Given the description of an element on the screen output the (x, y) to click on. 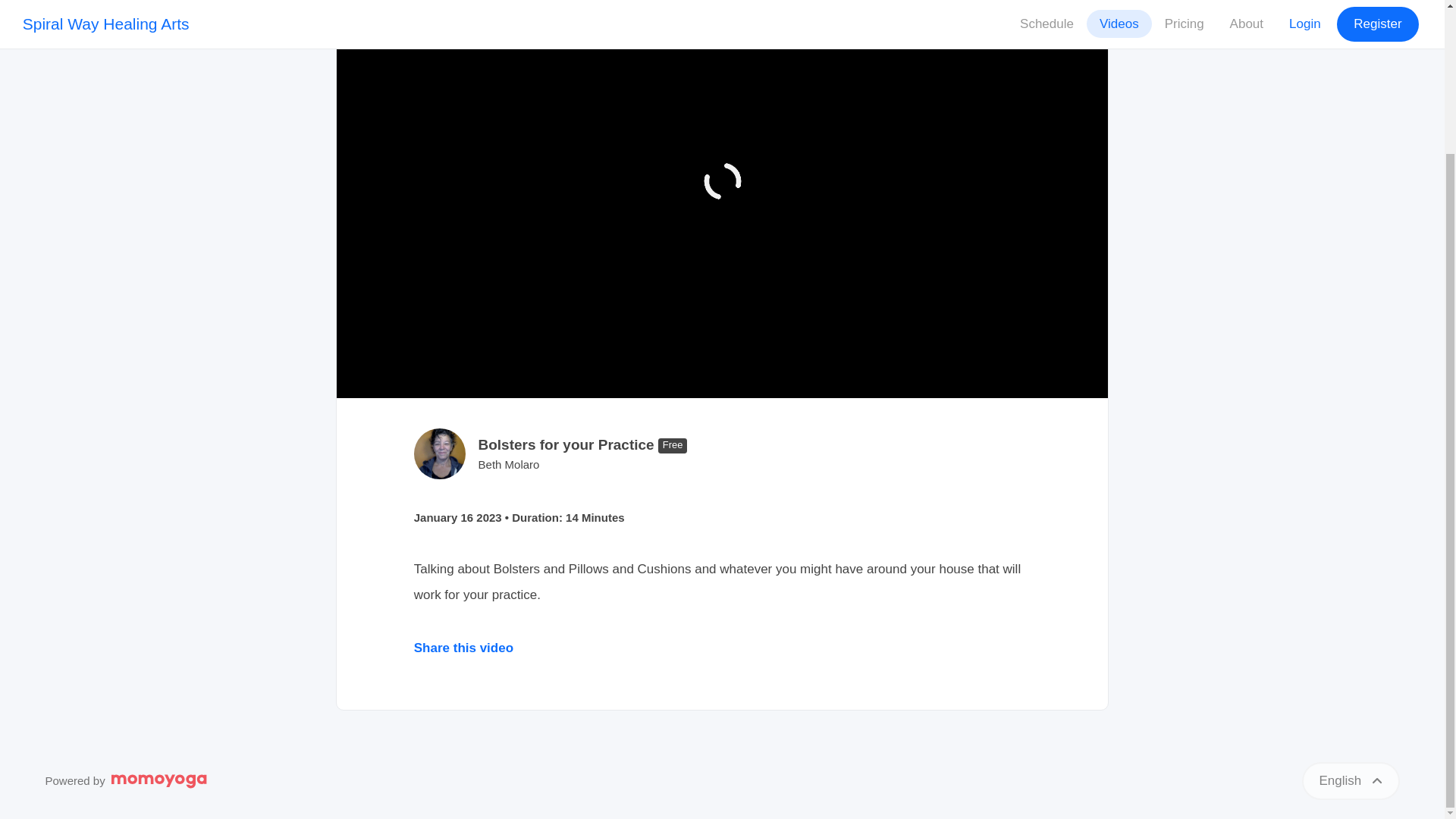
Share this video (463, 647)
English (1350, 781)
